Given the description of an element on the screen output the (x, y) to click on. 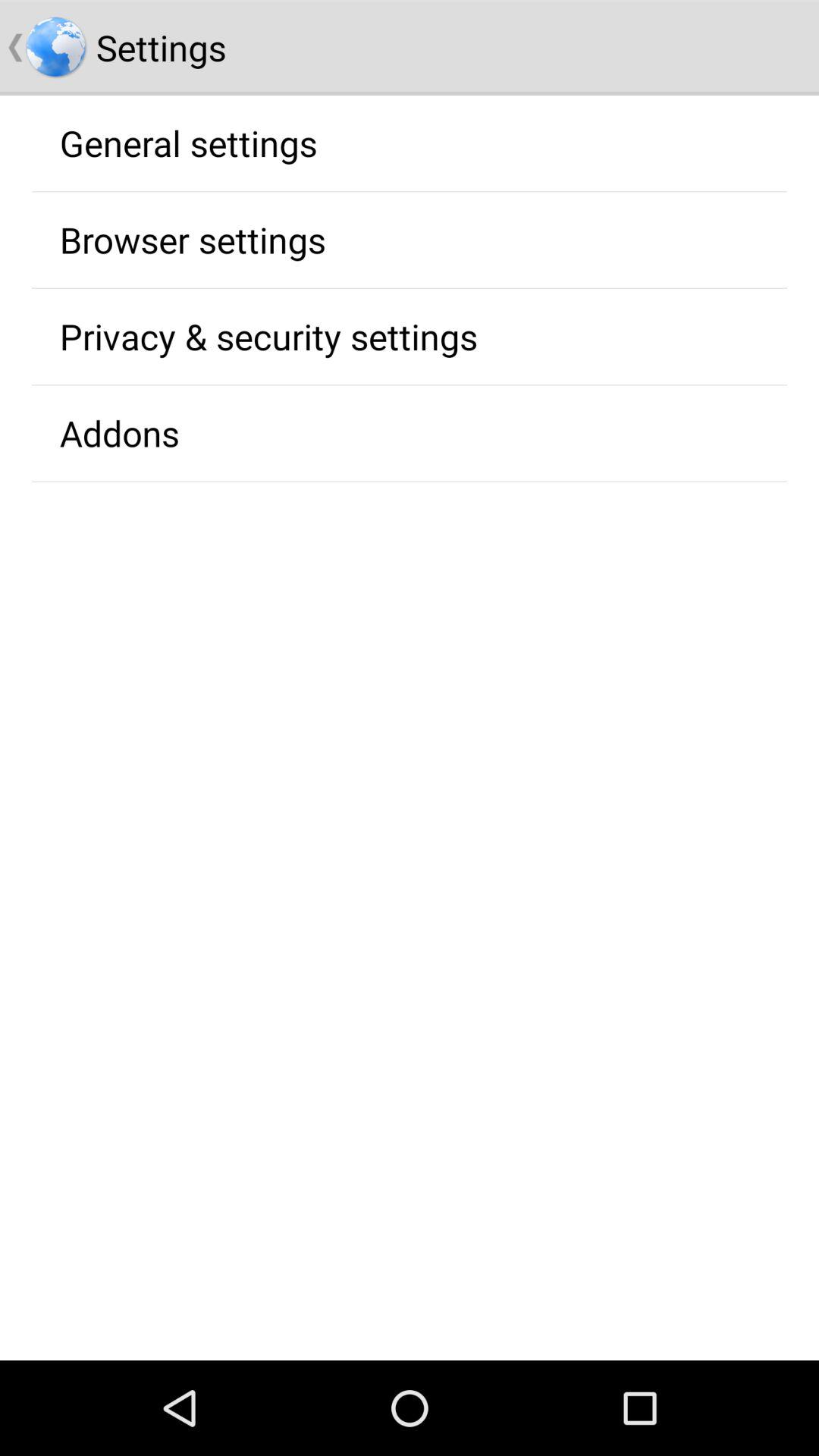
swipe to addons item (119, 432)
